Given the description of an element on the screen output the (x, y) to click on. 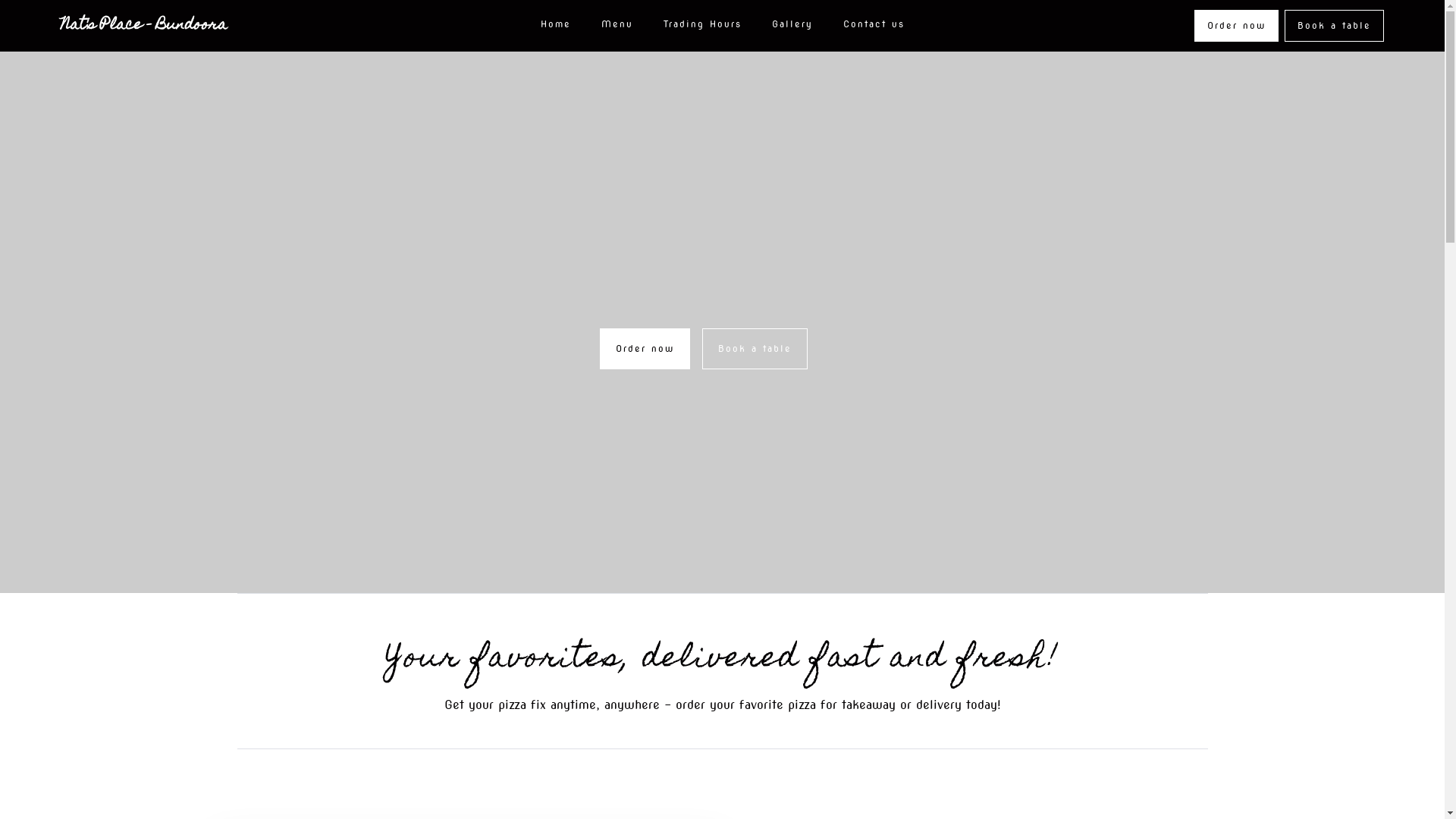
Order now Element type: text (1236, 25)
Trading Hours Element type: text (701, 25)
Contact us Element type: text (873, 25)
Book a table Element type: text (1333, 25)
Order now Element type: text (644, 348)
Menu Element type: text (616, 25)
Book a table Element type: text (754, 348)
Nat's Place - Bundoora Element type: text (143, 25)
Gallery Element type: text (791, 25)
Home Element type: text (554, 25)
